Given the description of an element on the screen output the (x, y) to click on. 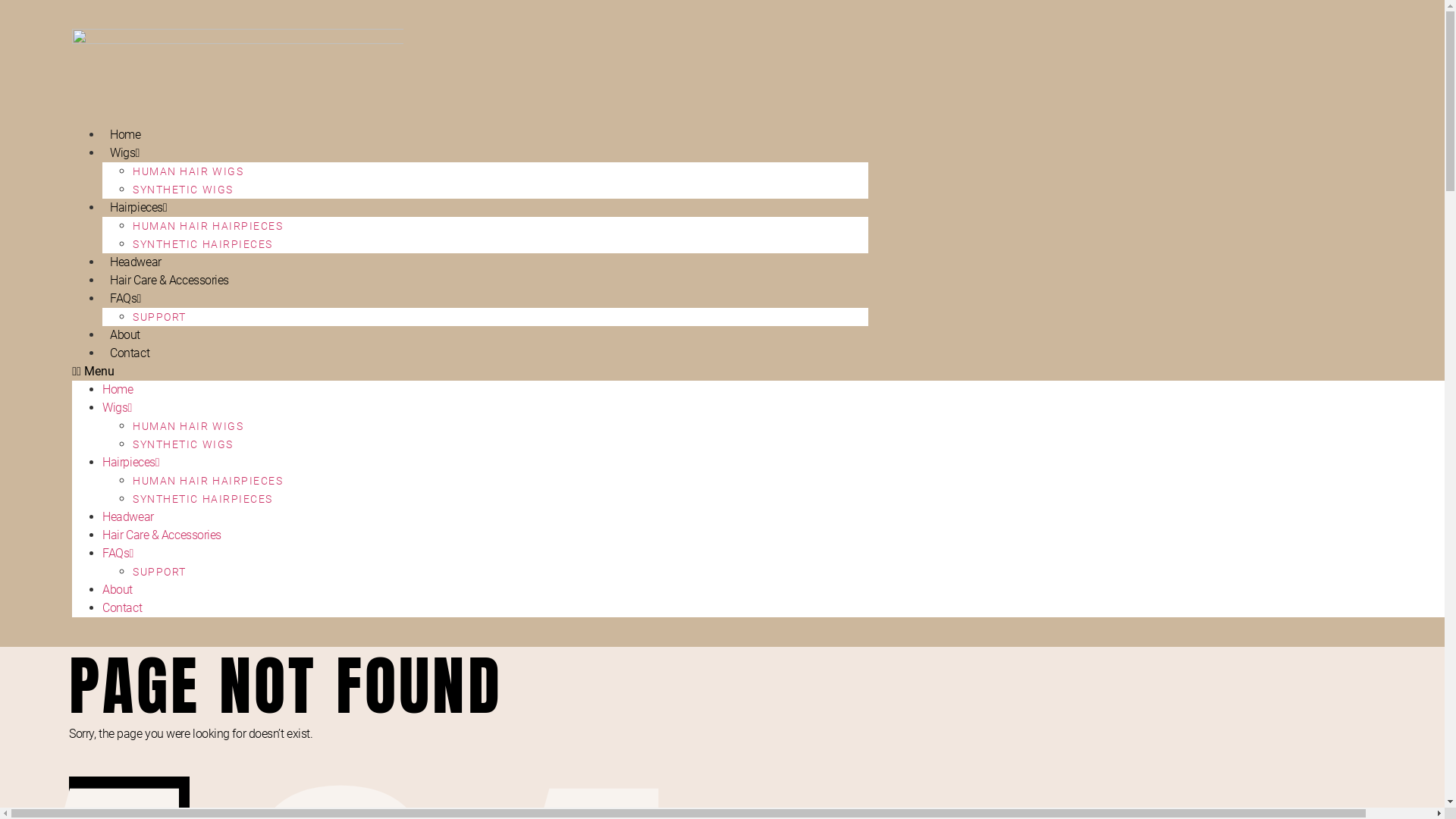
HUMAN HAIR HAIRPIECES Element type: text (207, 480)
SUPPORT Element type: text (159, 571)
Home Element type: text (117, 389)
HUMAN HAIR HAIRPIECES Element type: text (207, 225)
SUPPORT Element type: text (159, 316)
Contact Element type: text (129, 352)
SYNTHETIC WIGS Element type: text (182, 189)
About Element type: text (124, 334)
Hair Care & Accessories Element type: text (161, 534)
Hairpieces Element type: text (130, 462)
SYNTHETIC WIGS Element type: text (182, 444)
FAQs Element type: text (125, 298)
Hair Care & Accessories Element type: text (169, 279)
BACK TO HOME Element type: text (128, 794)
Headwear Element type: text (127, 516)
HUMAN HAIR WIGS Element type: text (187, 426)
Headwear Element type: text (135, 261)
FAQs Element type: text (117, 553)
Hairpieces Element type: text (138, 207)
HUMAN HAIR WIGS Element type: text (187, 171)
Contact Element type: text (121, 607)
SYNTHETIC HAIRPIECES Element type: text (202, 498)
Wigs Element type: text (124, 152)
Wigs Element type: text (116, 407)
SYNTHETIC HAIRPIECES Element type: text (202, 244)
Home Element type: text (124, 134)
About Element type: text (117, 589)
